Given the description of an element on the screen output the (x, y) to click on. 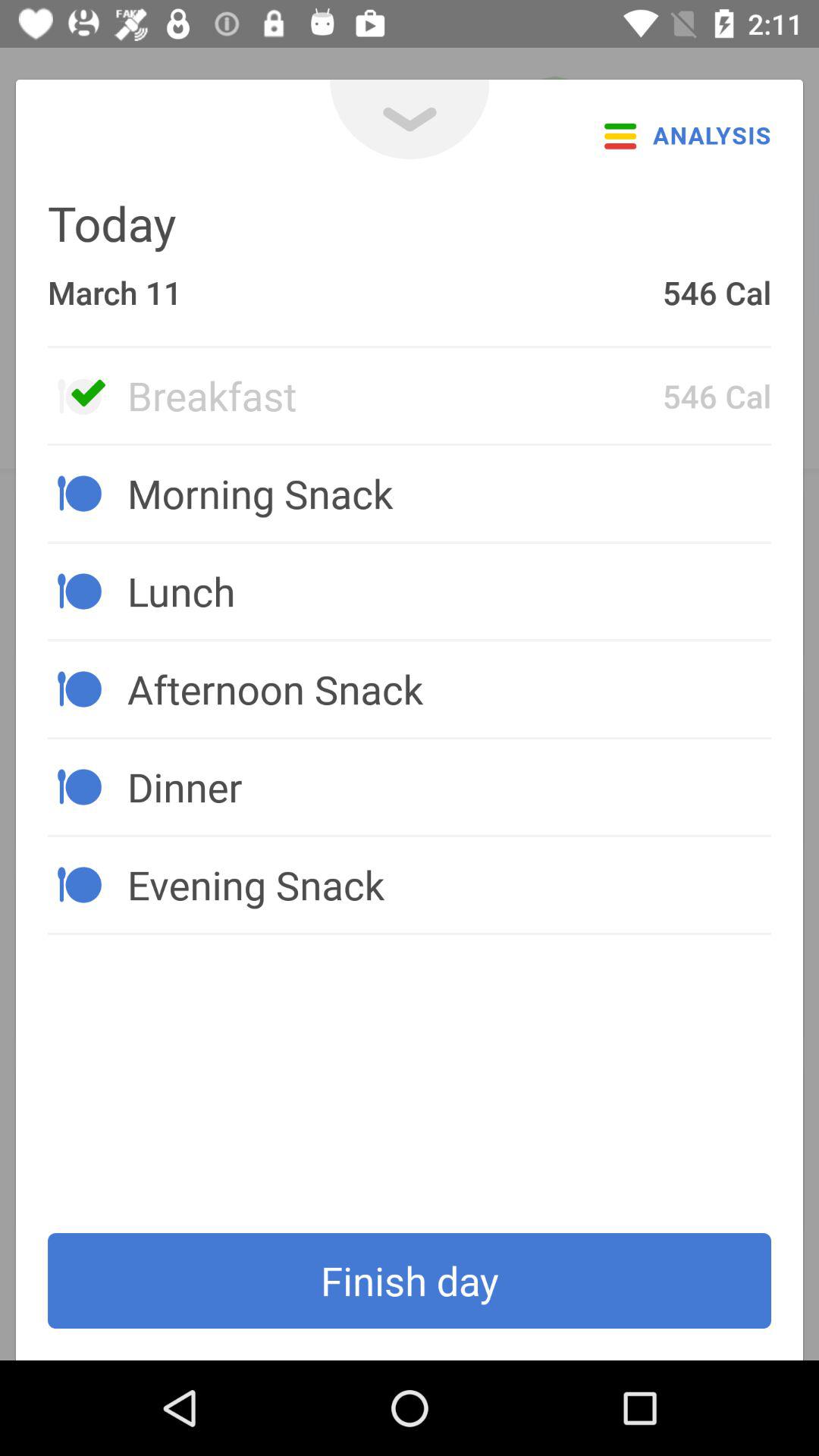
turn on analysis icon (683, 135)
